Given the description of an element on the screen output the (x, y) to click on. 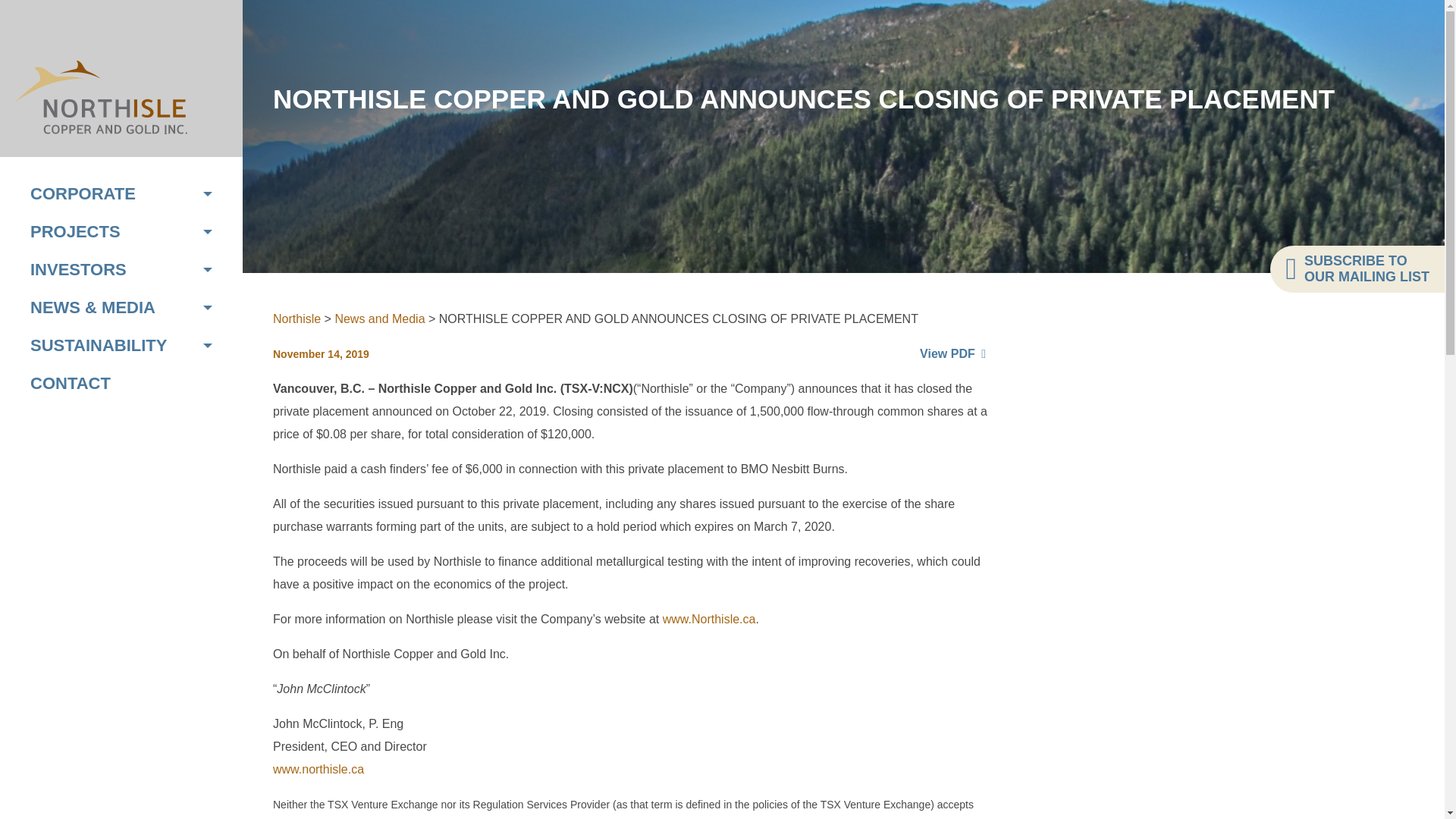
INVESTORS (121, 269)
SUSTAINABILITY (121, 345)
News and Media (379, 318)
CORPORATE (121, 193)
CONTACT (121, 383)
Northisle (100, 97)
Northisle (296, 318)
Go to Northisle. (296, 318)
PROJECTS (121, 231)
Go to News and Media. (379, 318)
